Given the description of an element on the screen output the (x, y) to click on. 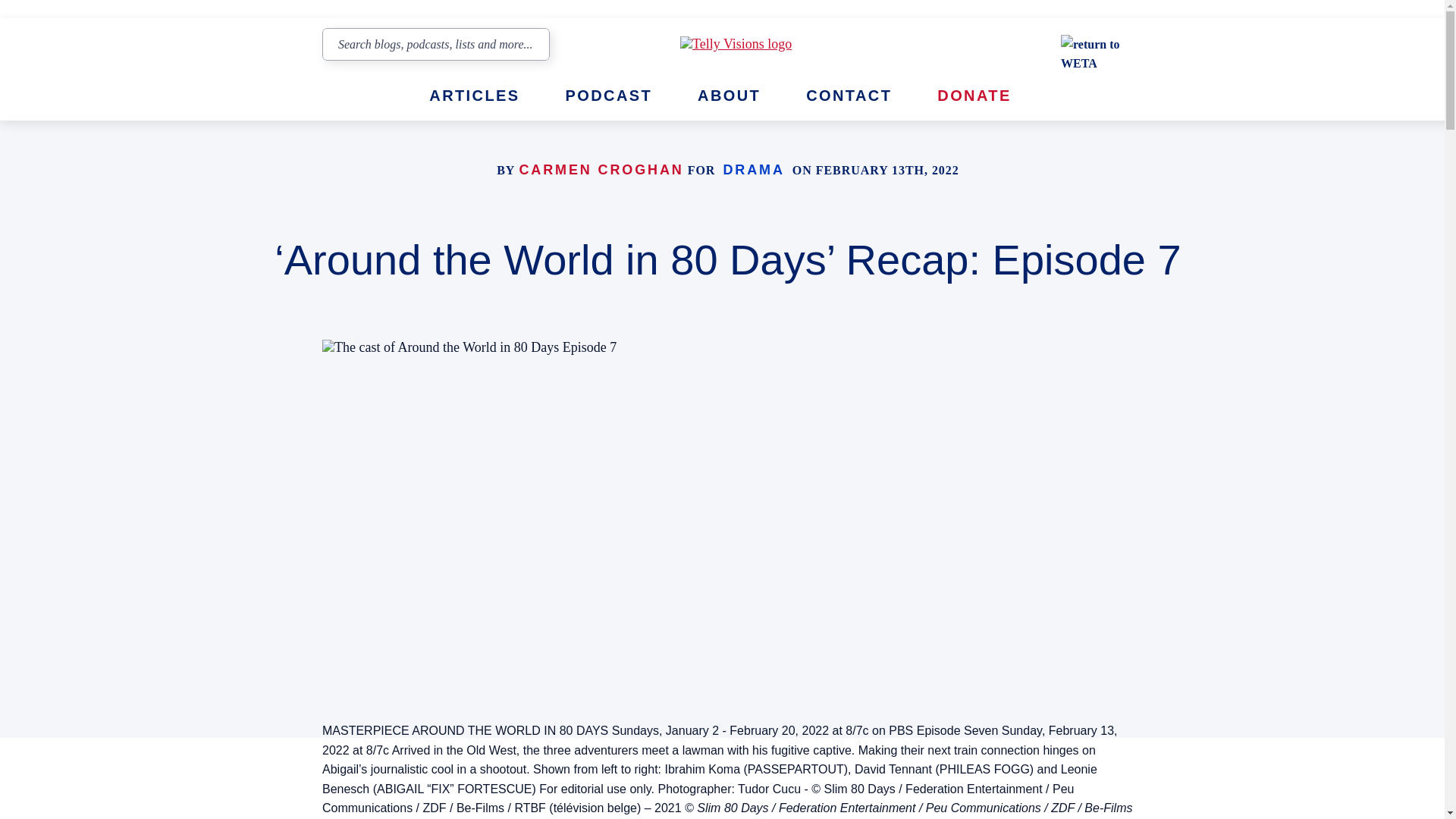
CONTACT (848, 95)
Search (531, 43)
Search (531, 43)
ABOUT (728, 95)
ARTICLES (474, 95)
DRAMA (753, 169)
DONATE (981, 95)
Home (759, 44)
CARMEN CROGHAN (601, 169)
